Given the description of an element on the screen output the (x, y) to click on. 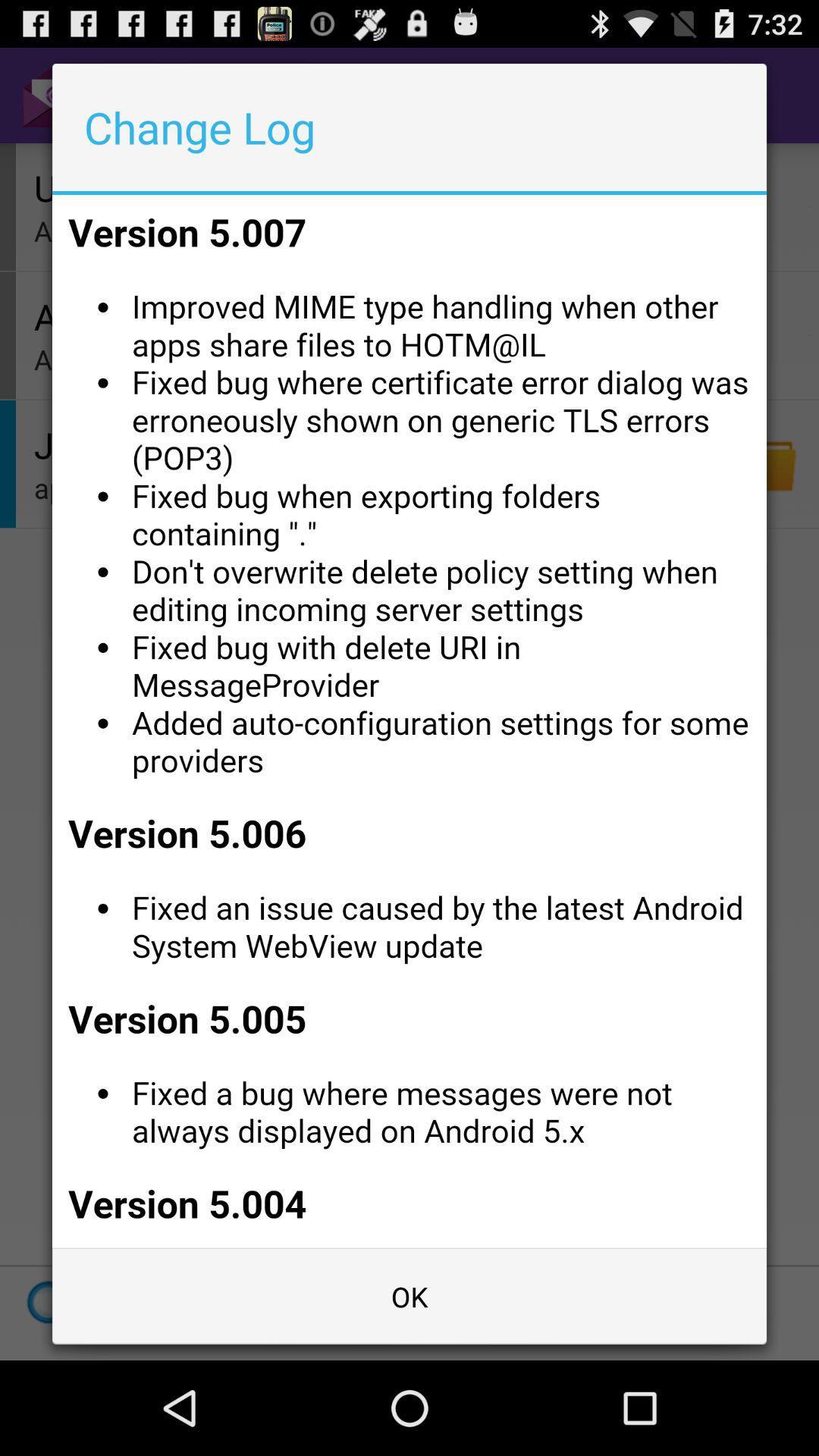
read change log (409, 721)
